Given the description of an element on the screen output the (x, y) to click on. 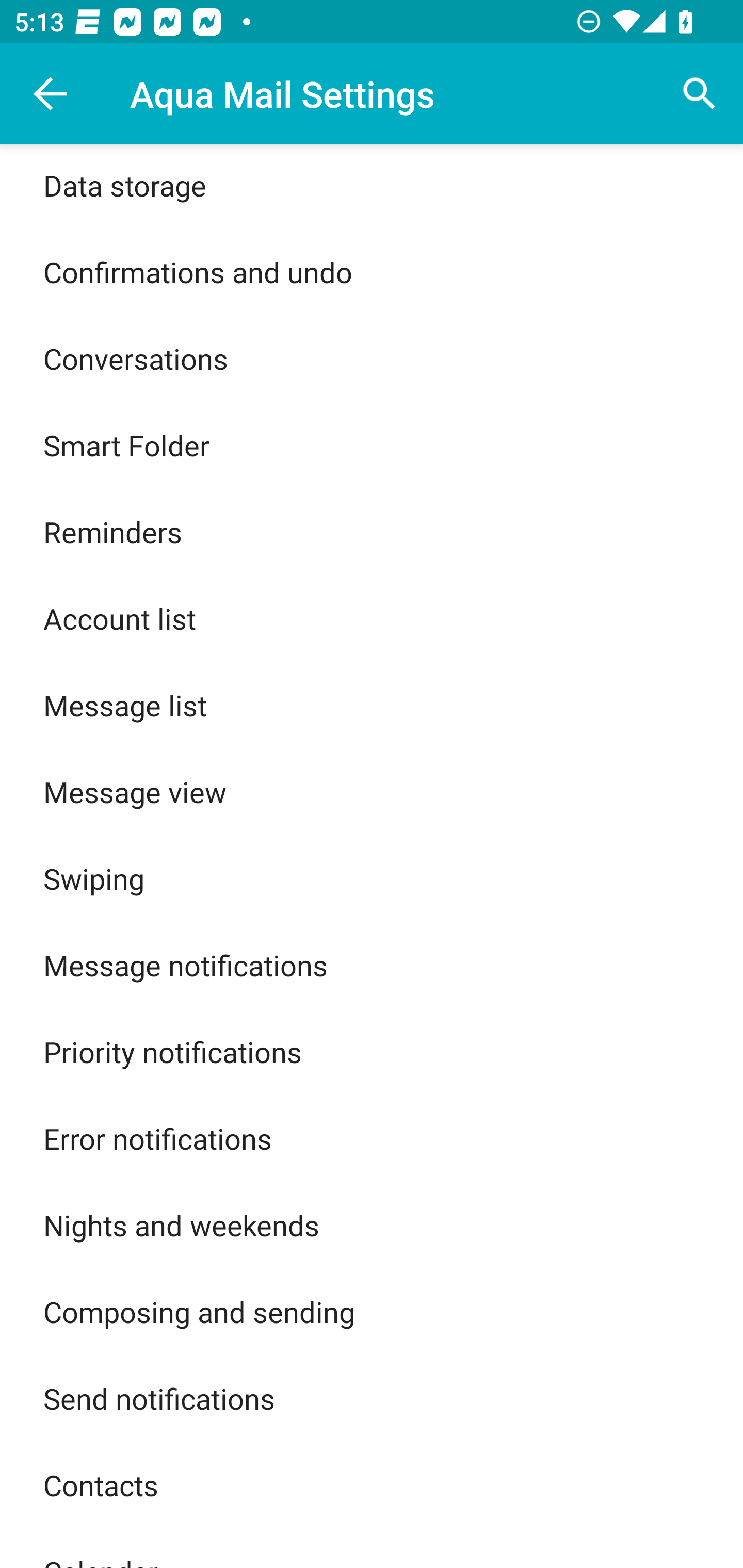
Navigate up (50, 93)
Search (699, 93)
Data storage (371, 186)
Confirmations and undo (371, 271)
Conversations (371, 358)
Smart Folder (371, 445)
Reminders (371, 532)
Account list (371, 618)
Message list (371, 704)
Message view (371, 791)
Swiping (371, 878)
Message notifications (371, 964)
Priority notifications (371, 1051)
Error notifications (371, 1138)
Nights and weekends (371, 1225)
Composing and sending (371, 1311)
Send notifications (371, 1397)
Contacts (371, 1484)
